Given the description of an element on the screen output the (x, y) to click on. 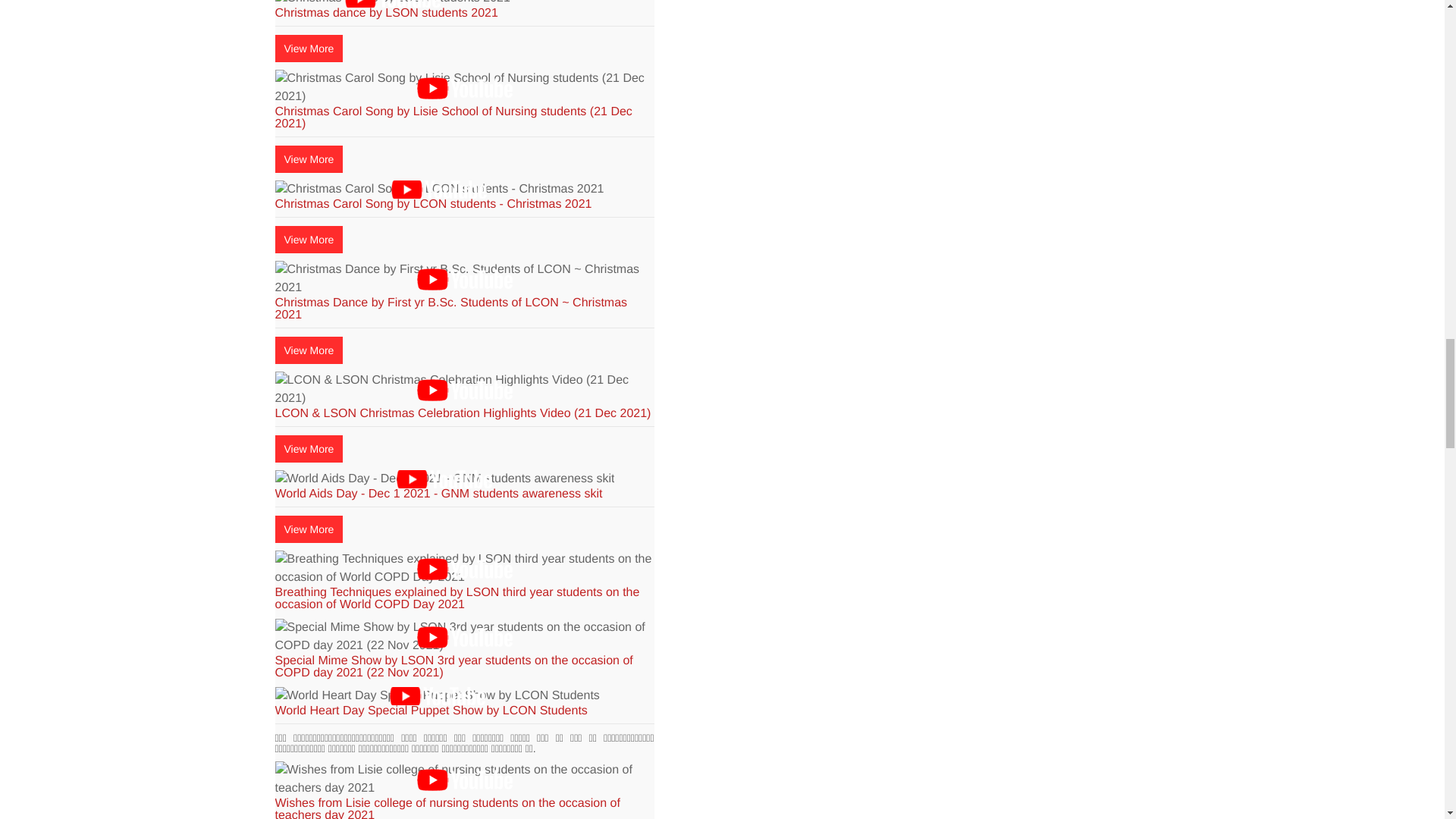
Christmas dance by LSON students 2021 (392, 3)
Christmas Carol Song by LCON students - Christmas 2021 (439, 189)
